Given the description of an element on the screen output the (x, y) to click on. 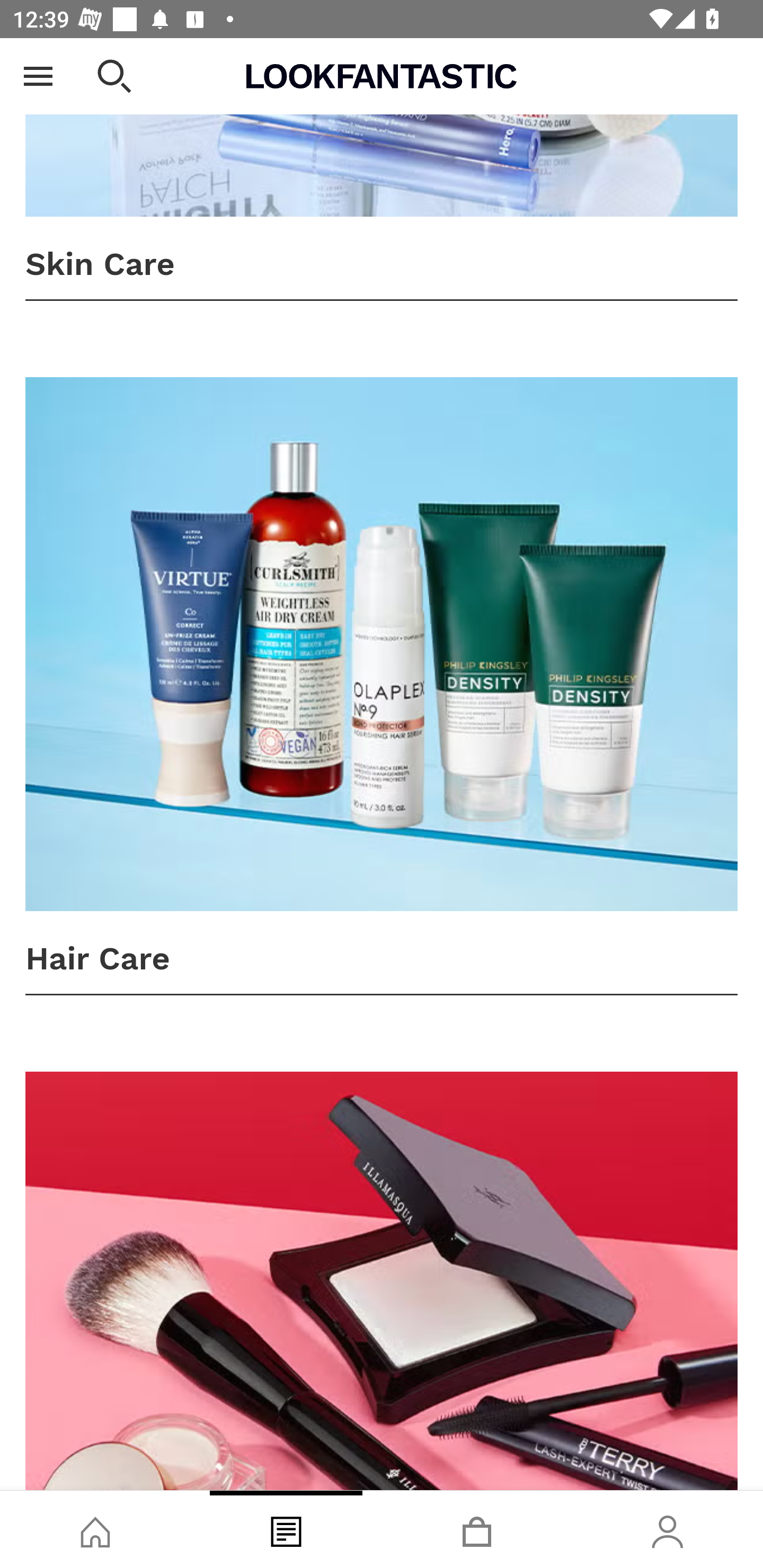
Skin Care (381, 169)
Hair Care (381, 685)
Make Up (381, 1280)
Shop, tab, 1 of 4 (95, 1529)
Blog, tab, 2 of 4 (285, 1529)
Basket, tab, 3 of 4 (476, 1529)
Account, tab, 4 of 4 (667, 1529)
